Given the description of an element on the screen output the (x, y) to click on. 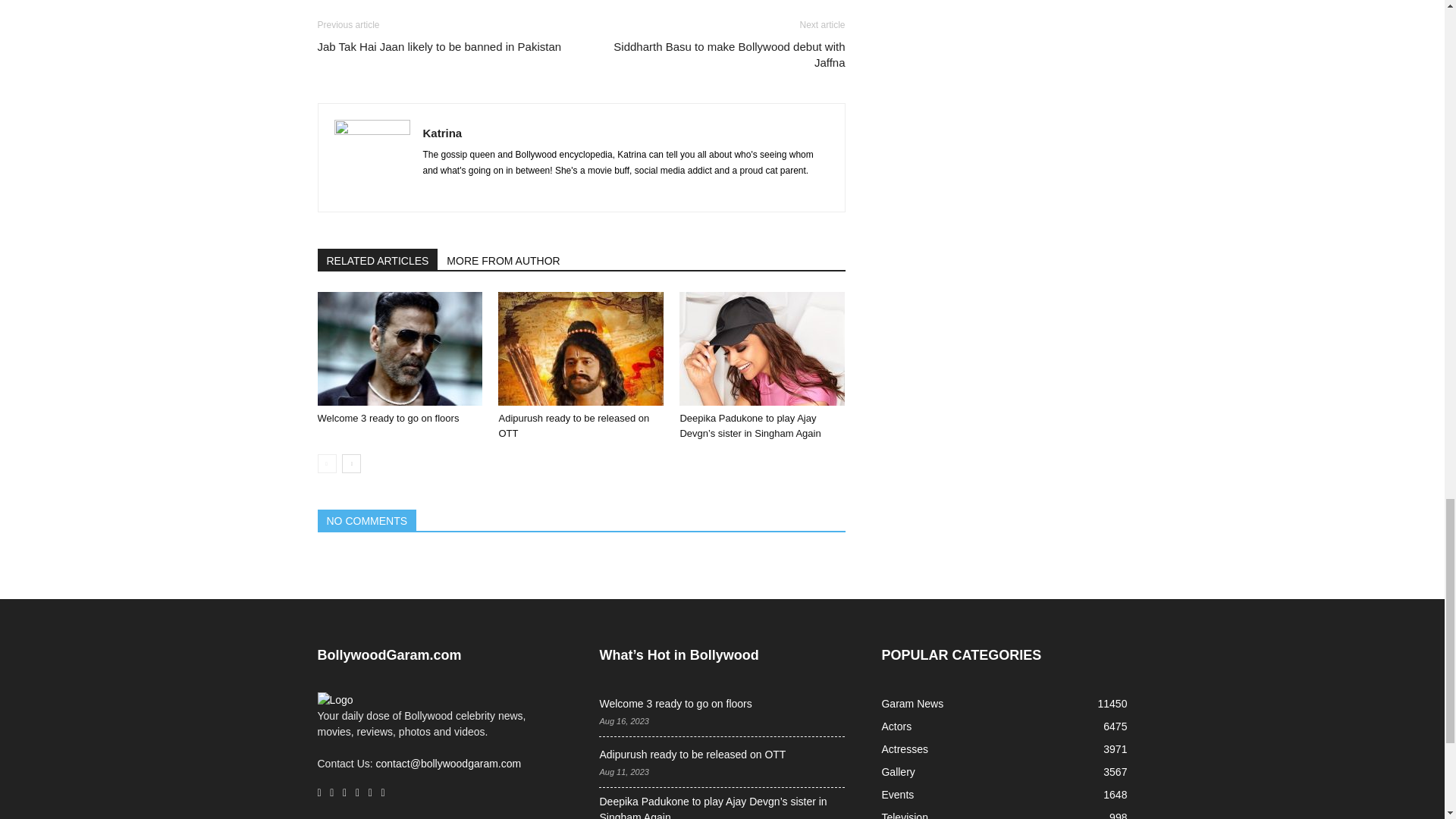
Adipurush ready to be released on OTT (573, 425)
Adipurush ready to be released on OTT (580, 348)
Welcome 3 ready to go on floors (387, 418)
Welcome 3 ready to go on floors (399, 348)
